Given the description of an element on the screen output the (x, y) to click on. 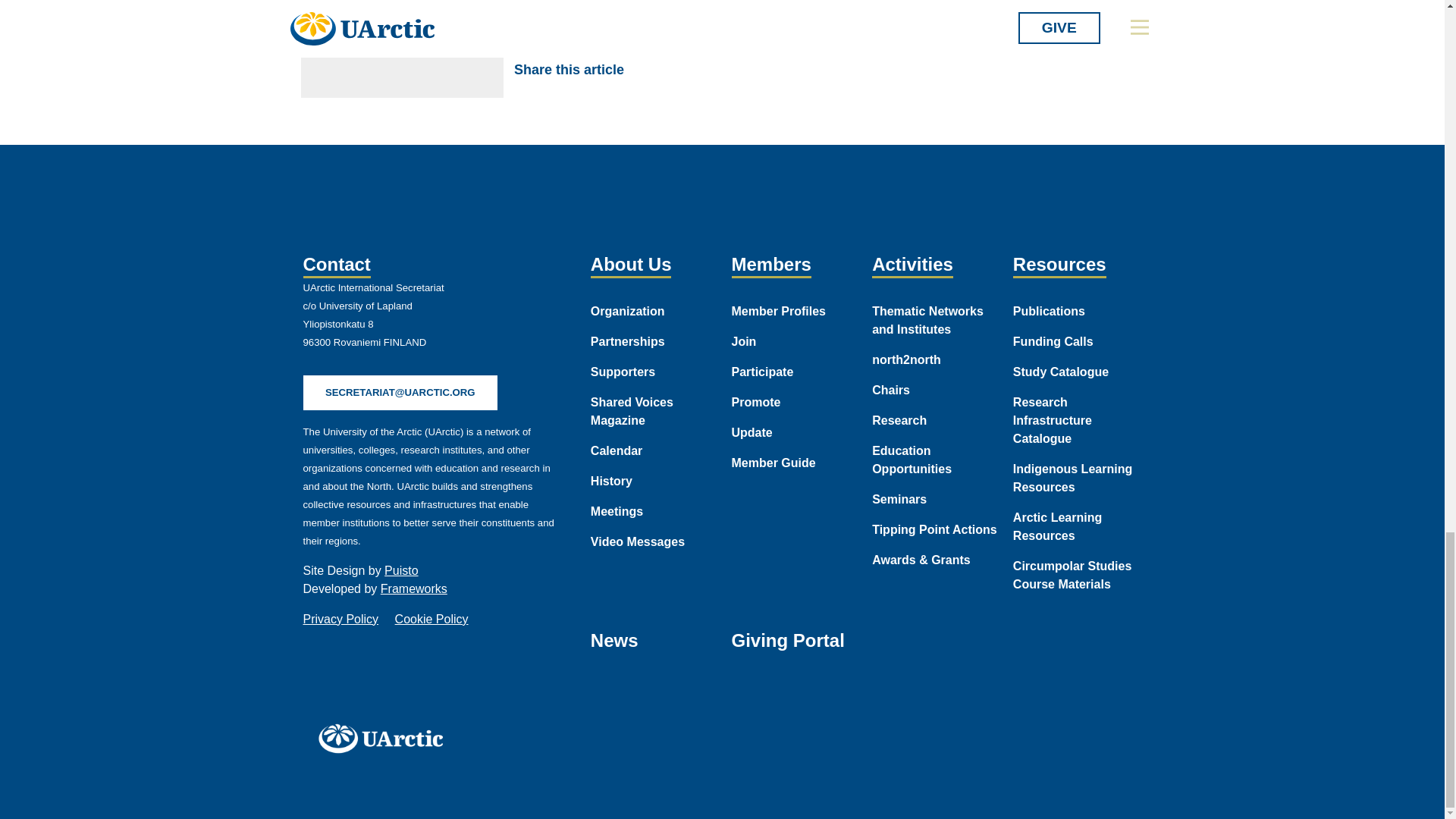
Share on Facebook (650, 70)
Privacy Policy (340, 618)
UArctic 2021 (385, 738)
Cookie Policy (431, 618)
Share on Twitter (686, 70)
